Given the description of an element on the screen output the (x, y) to click on. 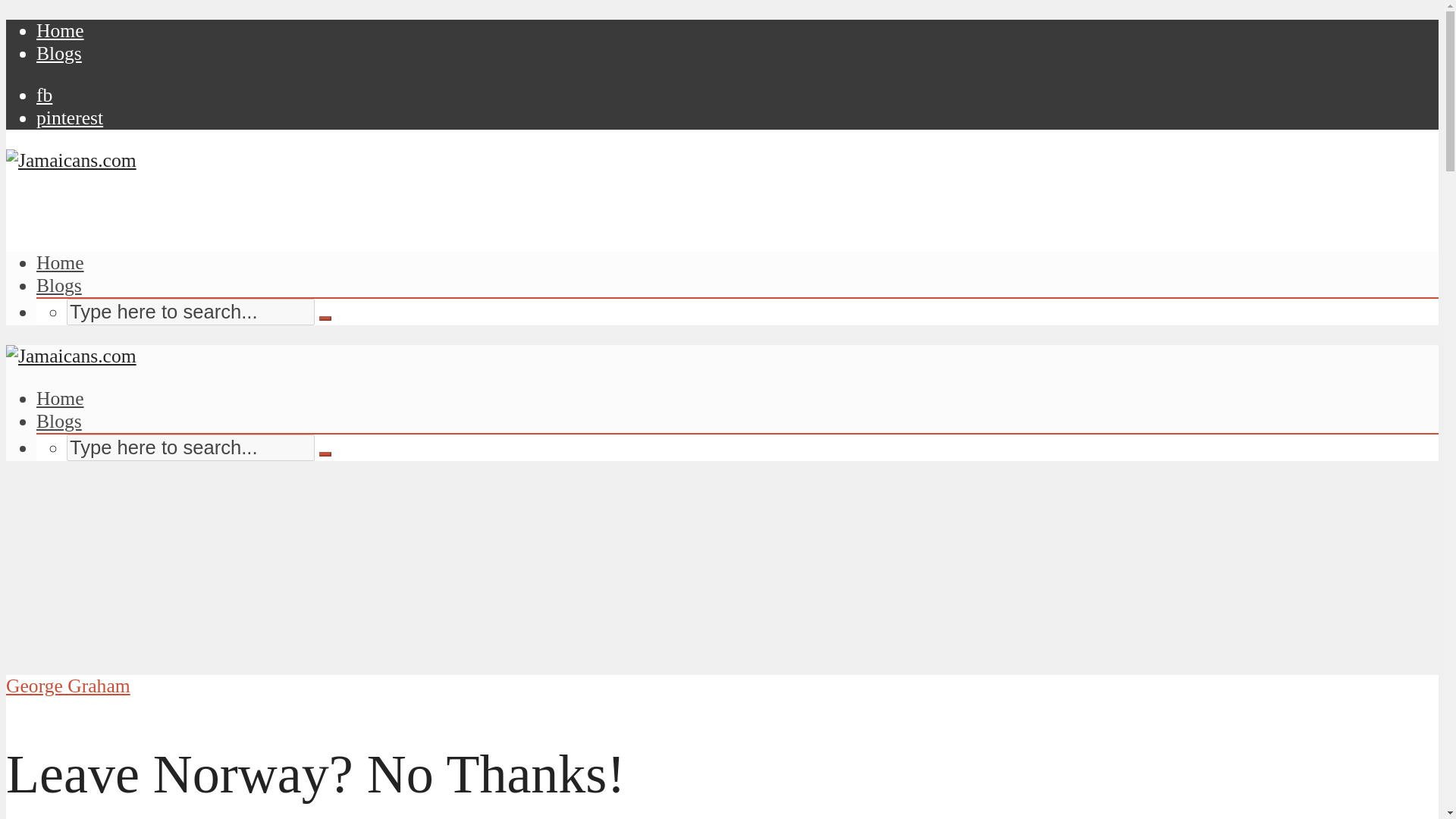
Type here to search... (190, 447)
Blogs (58, 285)
Type here to search... (190, 447)
Home (60, 30)
Type here to search... (190, 311)
pinterest (69, 117)
Home (60, 262)
Home (60, 398)
George Graham (68, 685)
Blogs (58, 53)
